Given the description of an element on the screen output the (x, y) to click on. 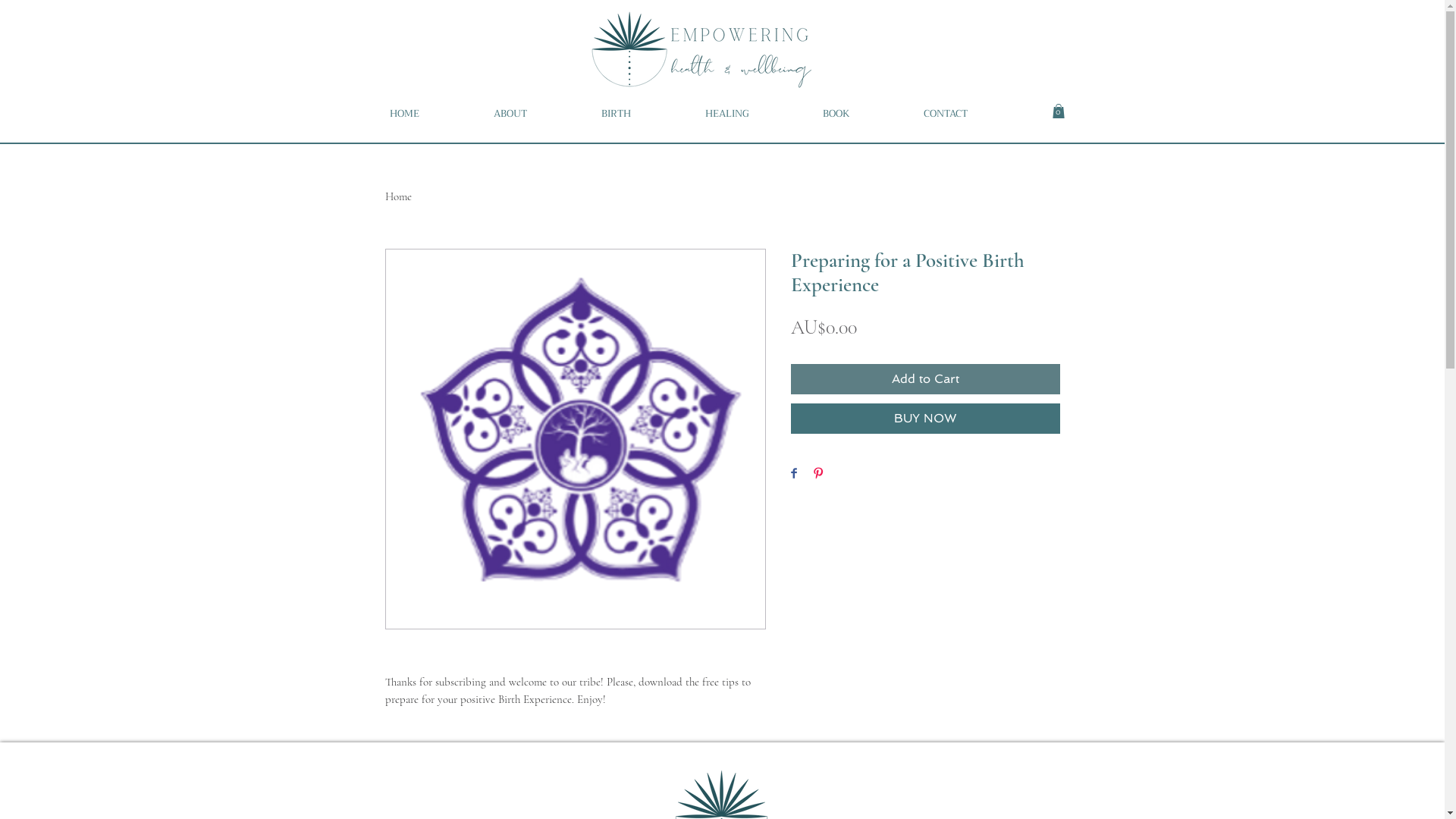
CONTACT Element type: text (970, 113)
HOME Element type: text (429, 113)
Home Element type: text (398, 196)
BUY NOW Element type: text (924, 418)
ABOUT Element type: text (535, 113)
0 Element type: text (1058, 110)
Add to Cart Element type: text (924, 379)
HEALING Element type: text (751, 113)
BOOK Element type: text (861, 113)
BIRTH Element type: text (641, 113)
